Given the description of an element on the screen output the (x, y) to click on. 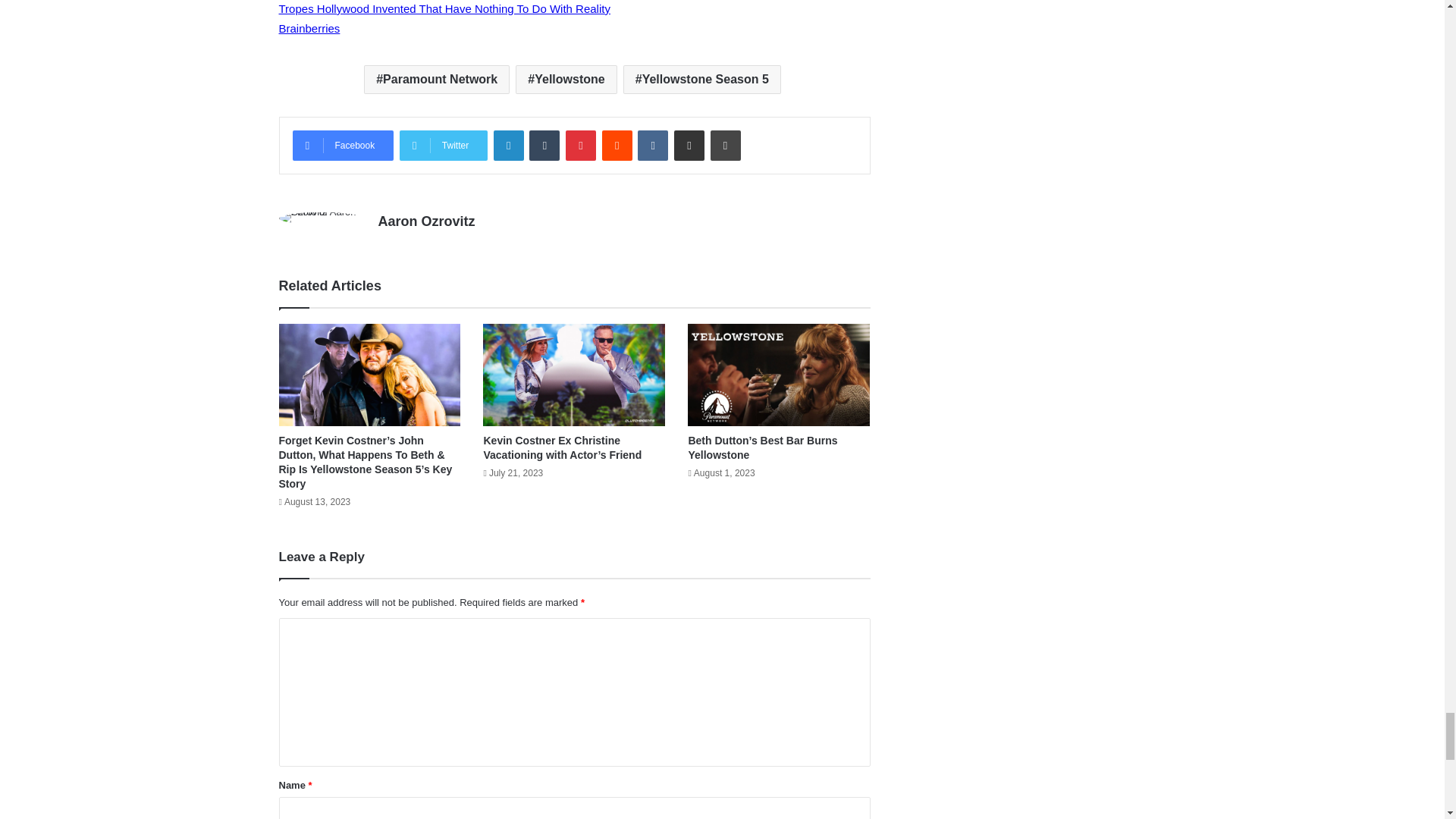
Print (725, 145)
LinkedIn (508, 145)
Tumblr (544, 145)
VKontakte (652, 145)
Reddit (616, 145)
Share via Email (689, 145)
Yellowstone (565, 79)
Yellowstone Season 5 (701, 79)
Print (725, 145)
Aaron Ozrovitz (425, 221)
Tumblr (544, 145)
Share via Email (689, 145)
Facebook (343, 145)
Twitter (442, 145)
LinkedIn (508, 145)
